Given the description of an element on the screen output the (x, y) to click on. 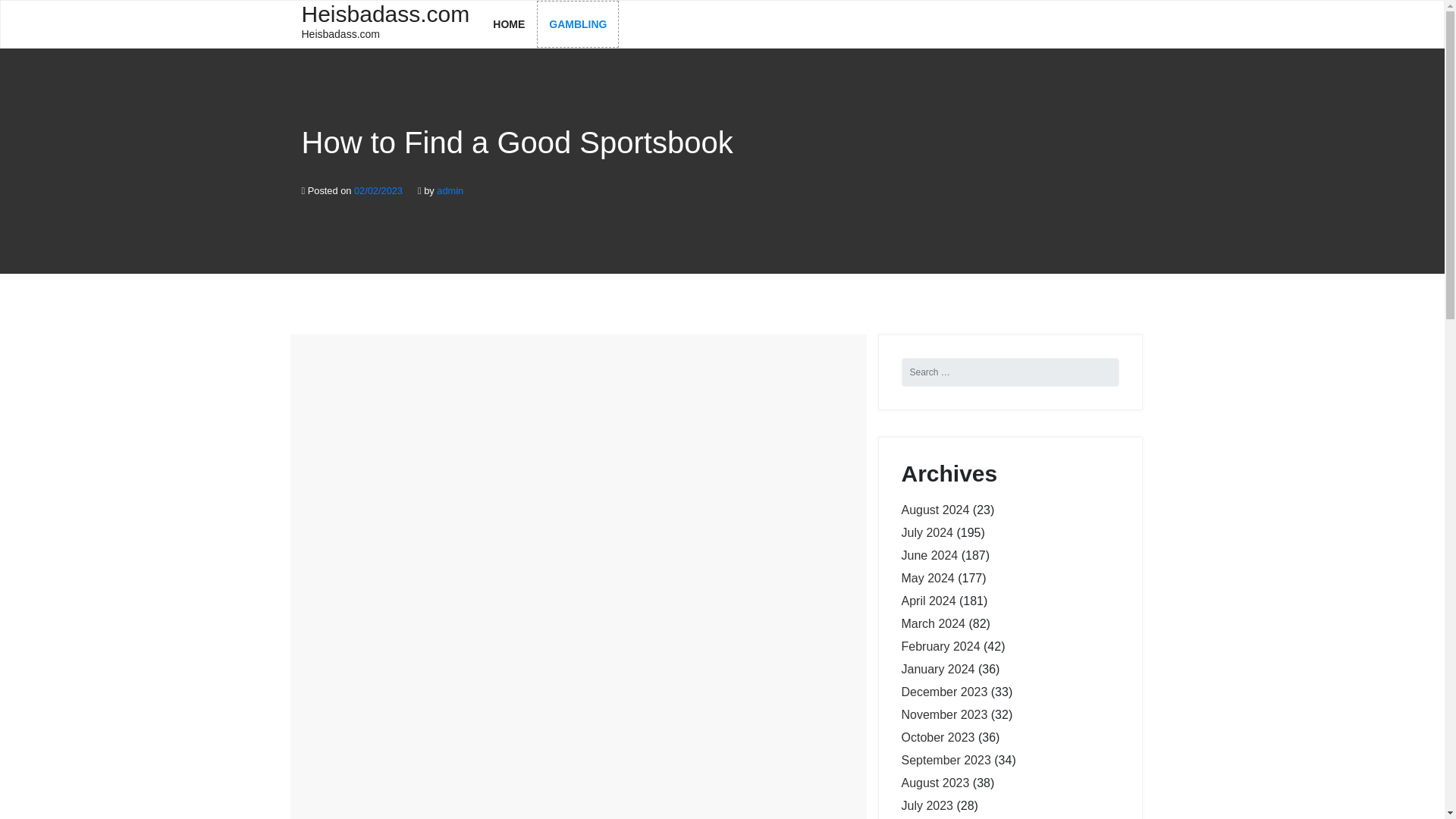
April 2024 (385, 22)
June 2024 (928, 600)
December 2023 (929, 554)
Gambling (944, 691)
GAMBLING (577, 23)
January 2024 (577, 23)
July 2023 (937, 668)
February 2024 (927, 805)
August 2024 (940, 645)
